Given the description of an element on the screen output the (x, y) to click on. 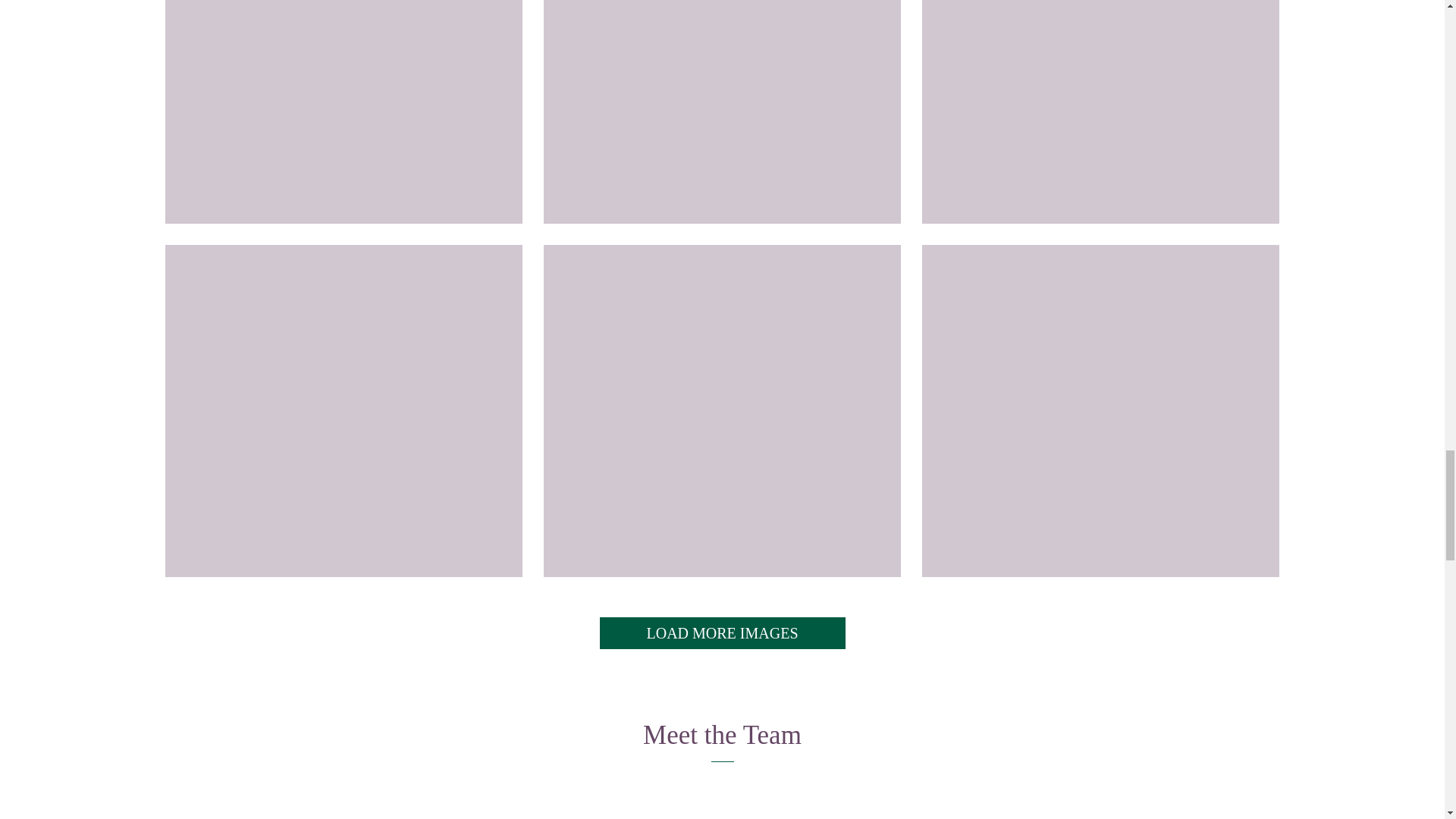
LOAD MORE IMAGES (721, 633)
